Given the description of an element on the screen output the (x, y) to click on. 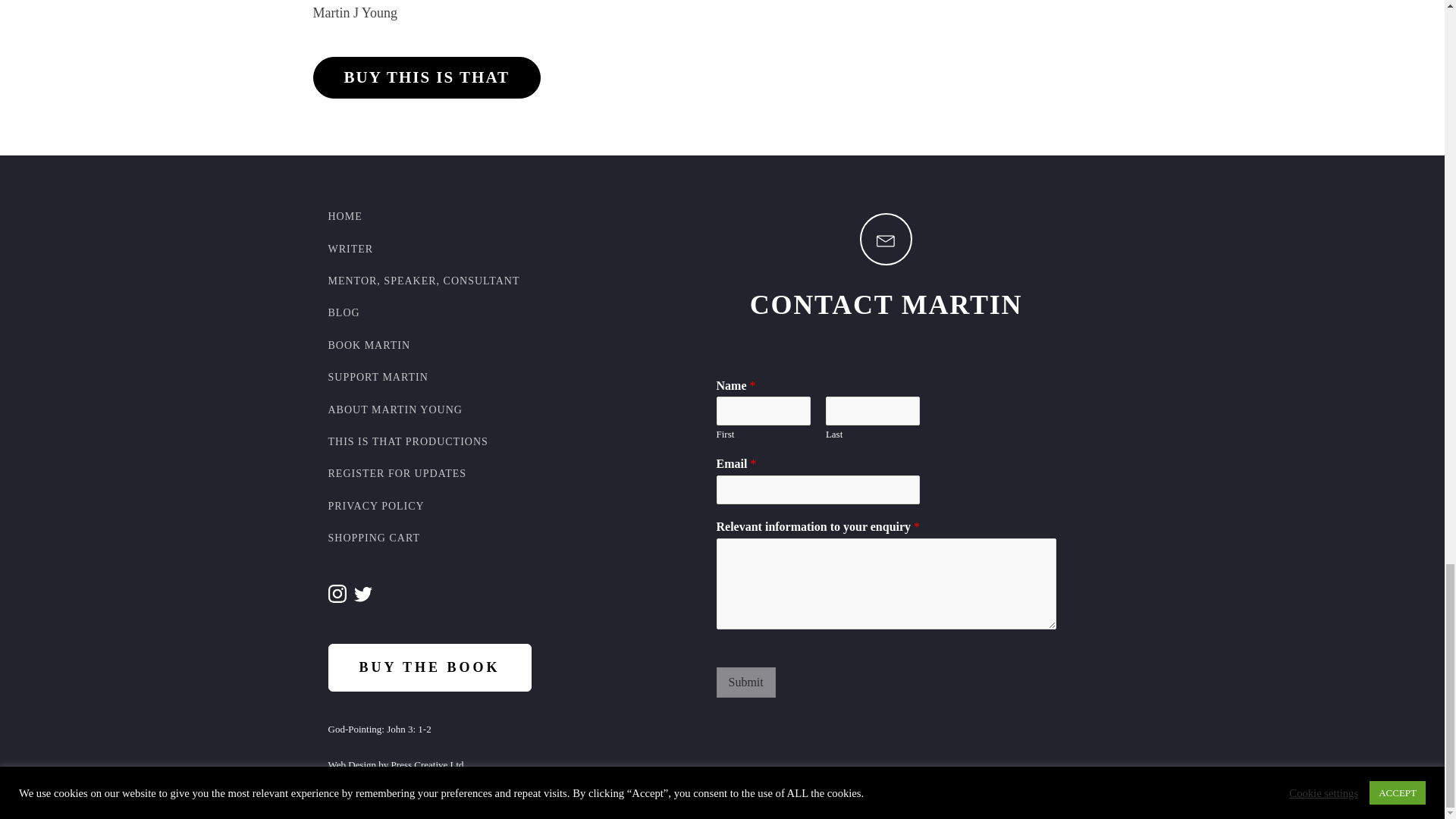
Submit (745, 682)
MENTOR, SPEAKER, CONSULTANT (423, 281)
BUY THE BOOK (429, 667)
BLOG (343, 313)
ABOUT MARTIN YOUNG (394, 409)
Web Design by Press Creative Ltd (395, 765)
WRITER (349, 249)
REGISTER FOR UPDATES (396, 473)
HOME (344, 216)
BOOK MARTIN (368, 345)
SUPPORT MARTIN (377, 377)
PRIVACY POLICY (375, 506)
THIS IS THAT PRODUCTIONS (407, 441)
BUY THIS IS THAT (426, 77)
SHOPPING CART (373, 538)
